Given the description of an element on the screen output the (x, y) to click on. 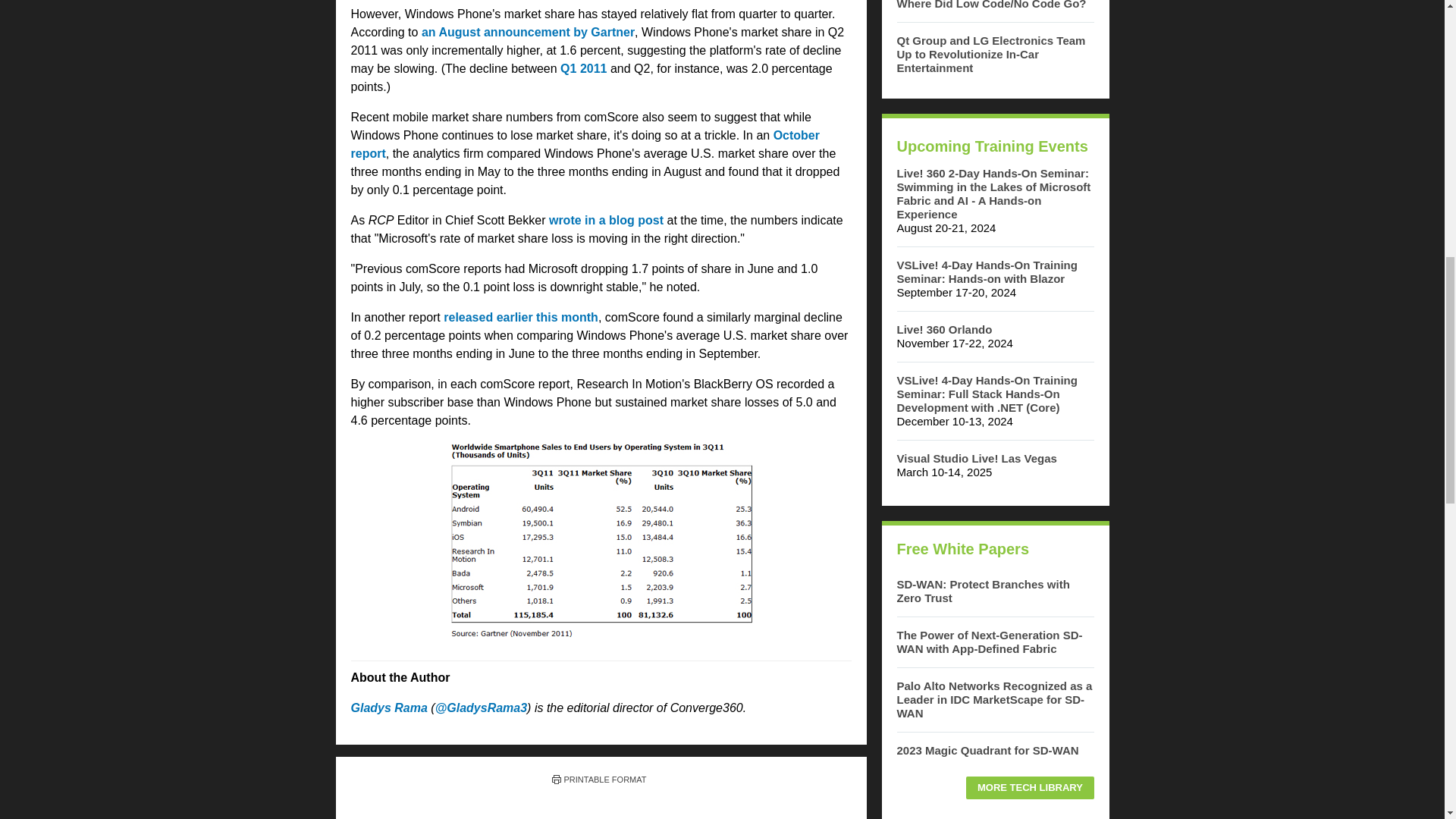
an August announcement by Gartner (528, 31)
Gladys Rama (388, 707)
Q1 2011 (583, 68)
released earlier this month (521, 317)
wrote in a blog post (605, 219)
October report (584, 143)
